Given the description of an element on the screen output the (x, y) to click on. 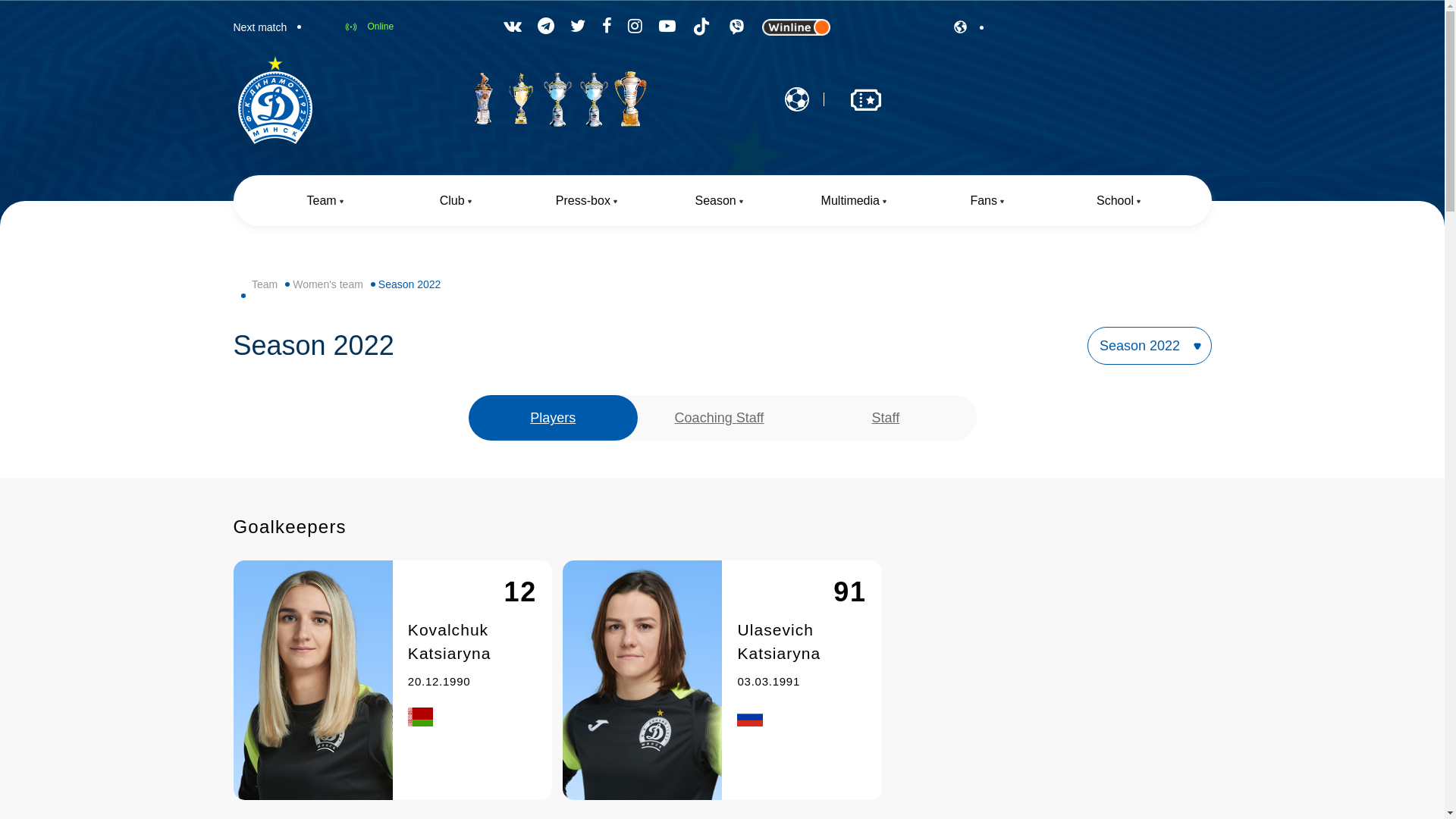
Team Element type: text (324, 200)
Fans Element type: text (987, 200)
Coaching Staff Element type: text (719, 417)
Press-box Element type: text (586, 200)
Multimedia Element type: text (853, 200)
School Element type: text (1118, 200)
Team Element type: text (264, 284)
Online Element type: text (368, 26)
Players Element type: text (552, 417)
Ulasevich Element type: text (774, 629)
Katsiaryna Element type: text (449, 653)
Club Element type: text (455, 200)
Season Element type: text (719, 200)
Katsiaryna Element type: text (778, 653)
Kovalchuk Element type: text (447, 629)
Staff Element type: text (885, 417)
Women's team Element type: text (327, 284)
